Given the description of an element on the screen output the (x, y) to click on. 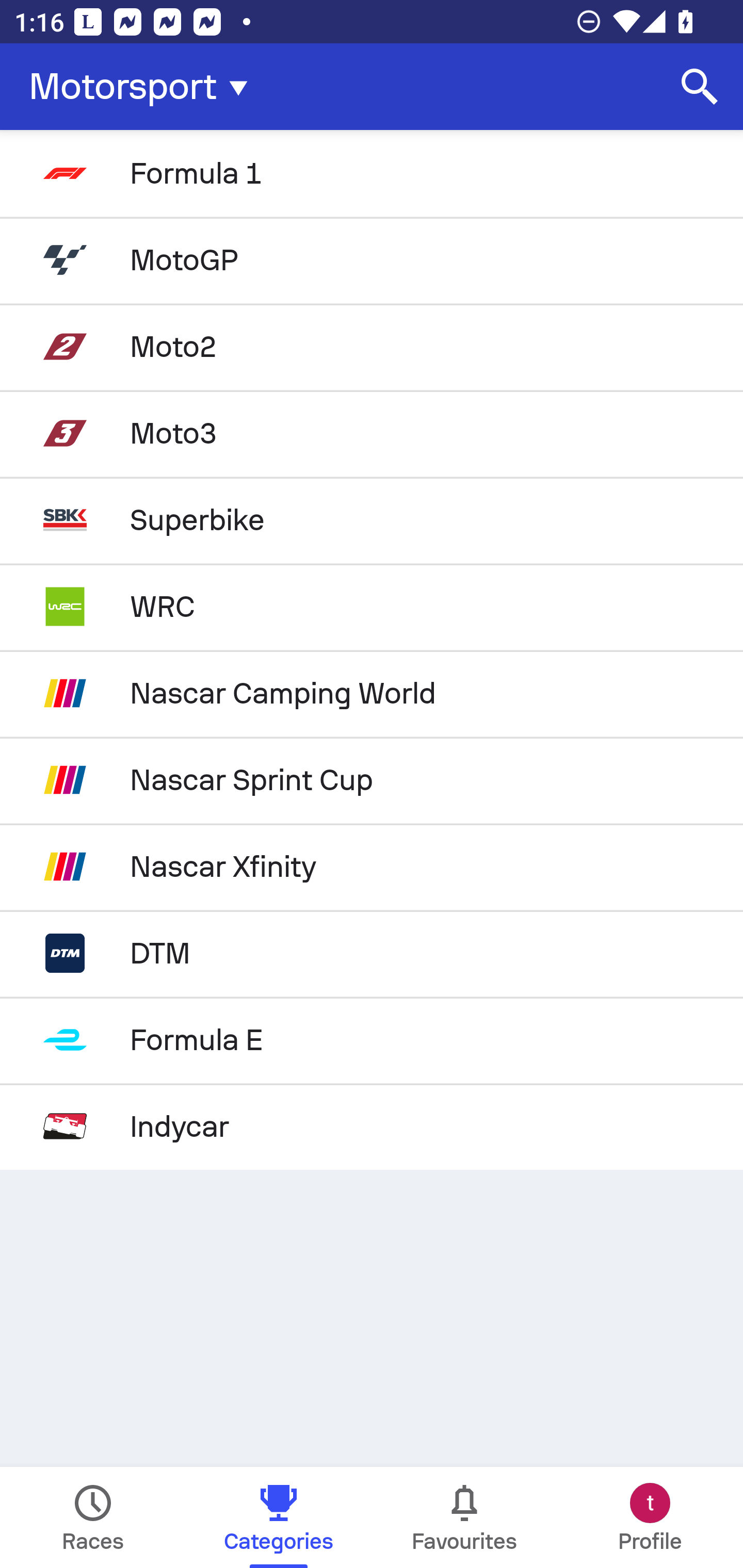
Motorsport (144, 86)
Search (699, 86)
Formula 1 (371, 173)
MotoGP (371, 259)
Moto2 (371, 346)
Moto3 (371, 433)
Superbike (371, 519)
WRC (371, 605)
Nascar Camping World (371, 692)
Nascar Sprint Cup (371, 779)
Nascar Xfinity (371, 866)
DTM (371, 953)
Formula E (371, 1040)
Indycar (371, 1126)
Races (92, 1517)
Favourites (464, 1517)
Profile (650, 1517)
